Given the description of an element on the screen output the (x, y) to click on. 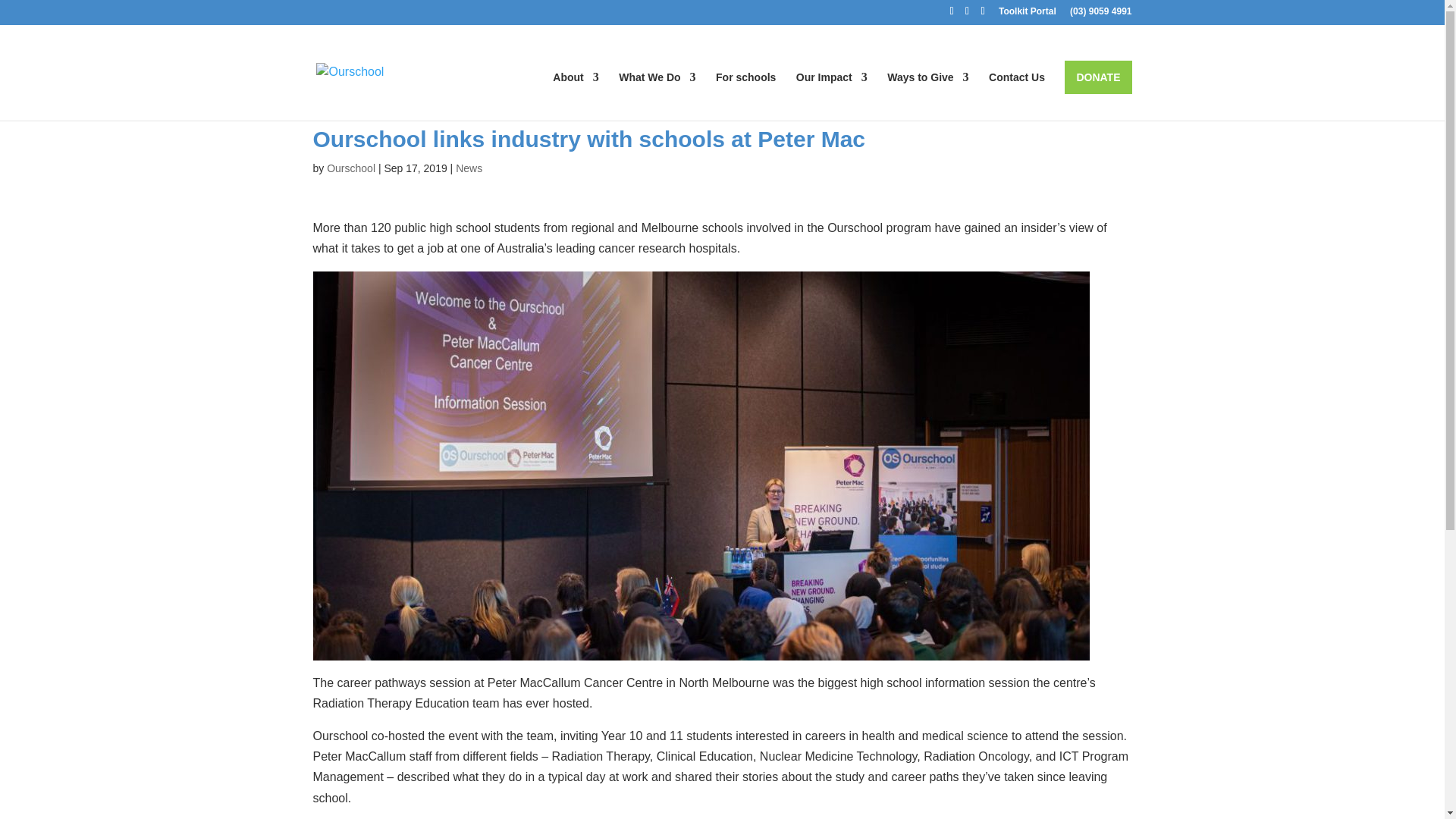
Posts by Ourschool (350, 168)
About (575, 96)
Ourschool (350, 168)
What We Do (656, 96)
DONATE (1097, 77)
Ways to Give (927, 96)
For schools (746, 96)
Toolkit Portal (1022, 10)
Contact Us (1016, 96)
News (468, 168)
